Given the description of an element on the screen output the (x, y) to click on. 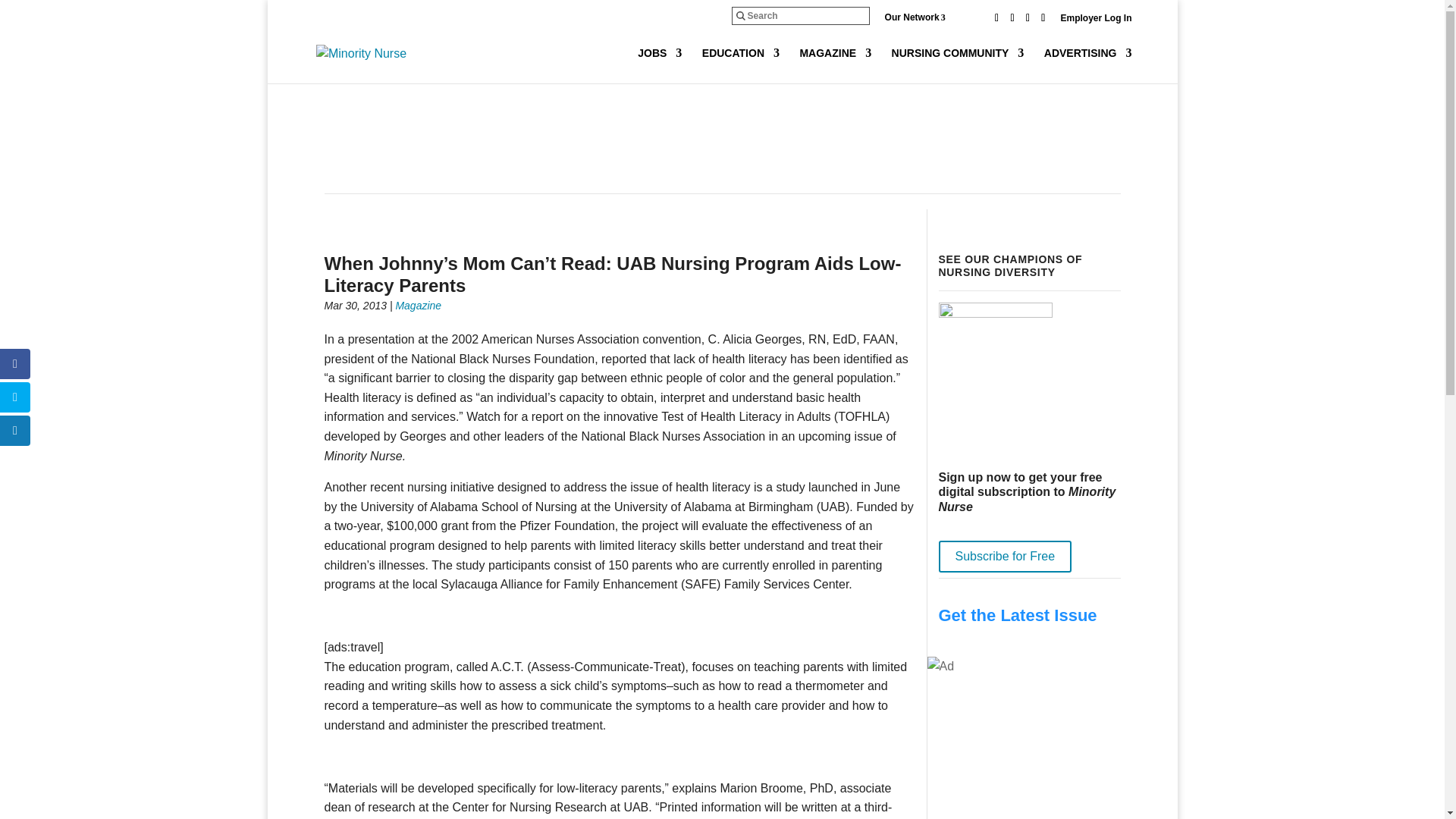
Employer Log In (1095, 21)
Subscribe for Free (1005, 556)
Our Network (926, 17)
NURSING COMMUNITY (958, 65)
3rd party ad content (721, 141)
EDUCATION (739, 65)
MAGAZINE (834, 65)
JOBS (659, 65)
